Given the description of an element on the screen output the (x, y) to click on. 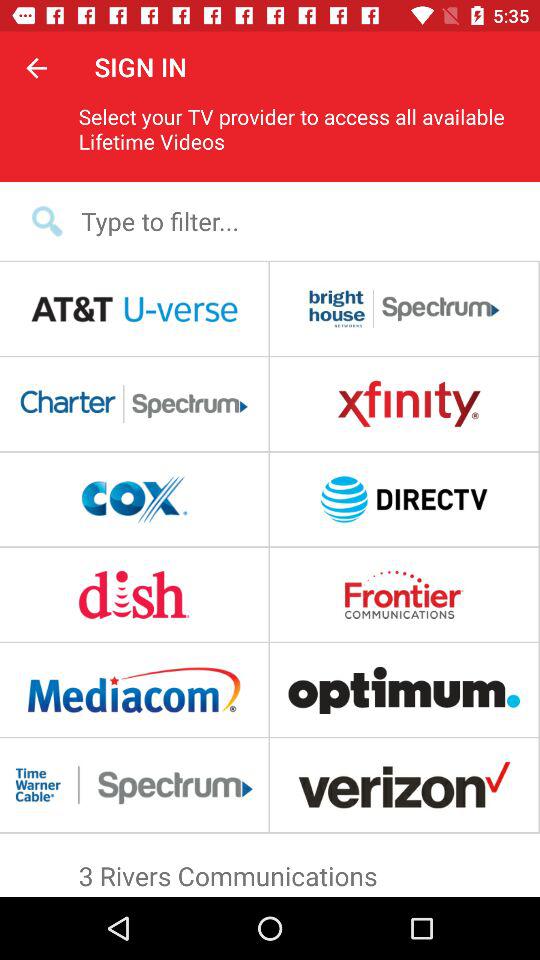
press the icon below select your tv item (283, 220)
